Given the description of an element on the screen output the (x, y) to click on. 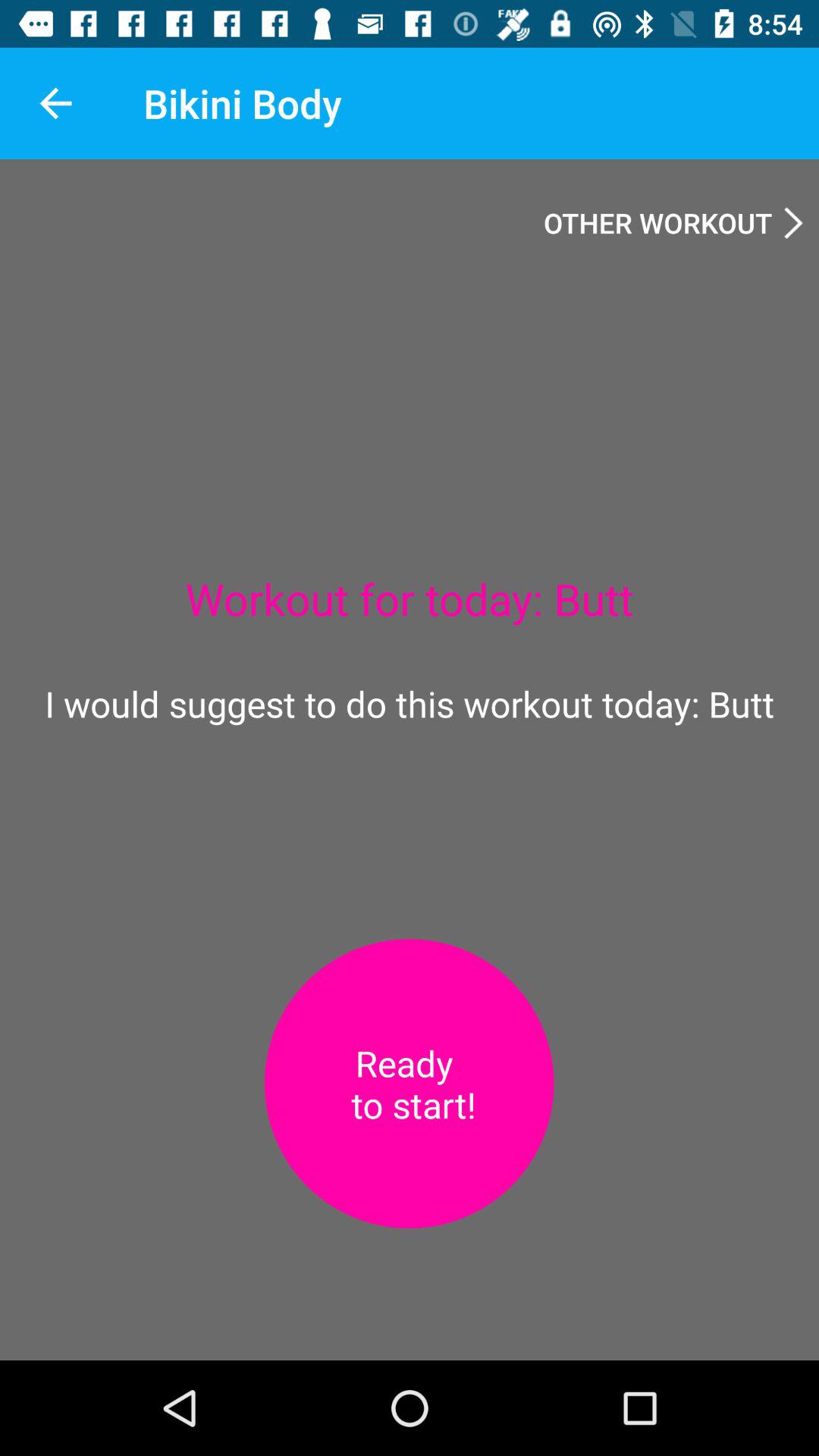
open the item next to bikini body (55, 103)
